Given the description of an element on the screen output the (x, y) to click on. 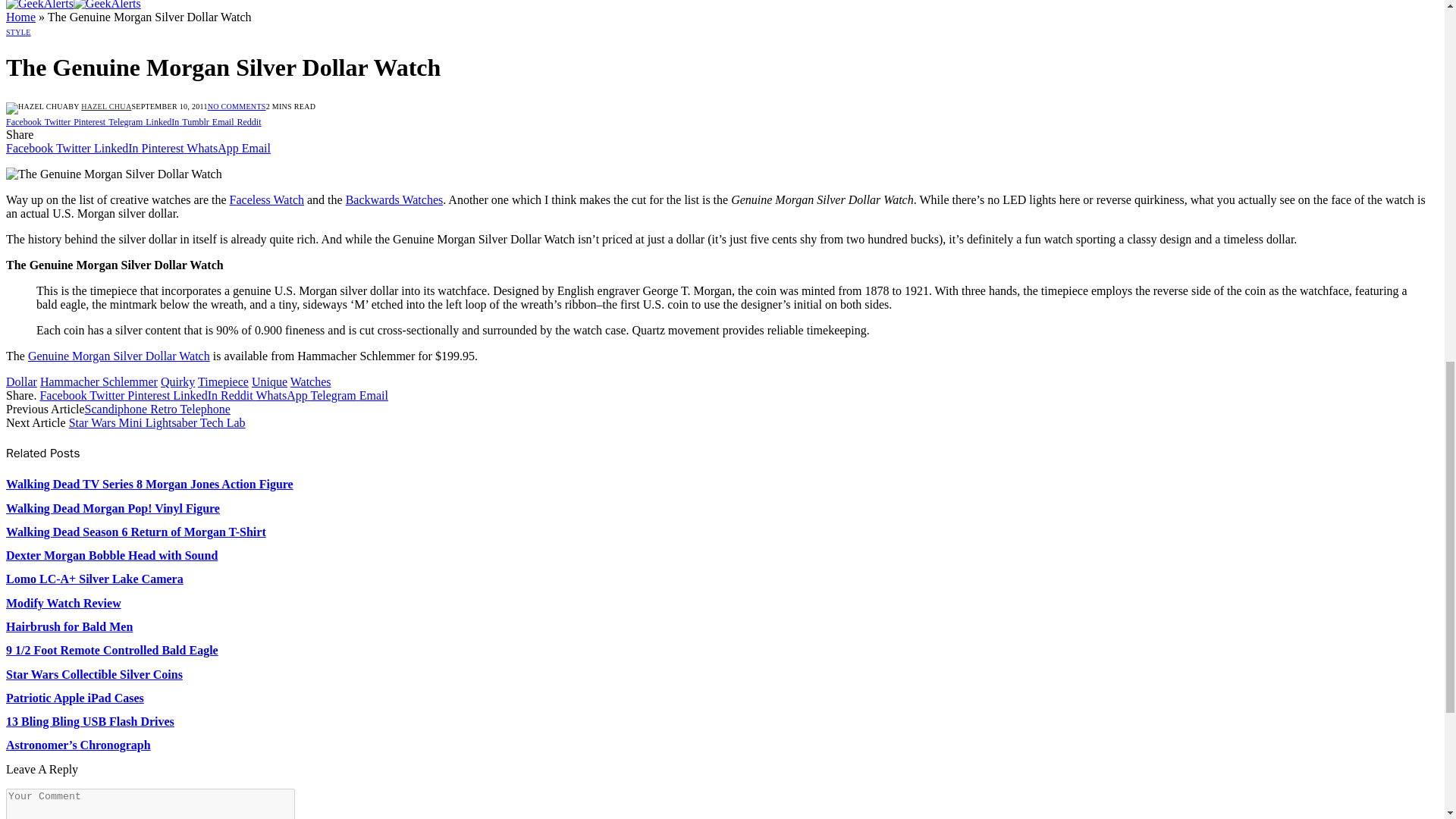
Share on Pinterest (90, 120)
Share on Telegram (126, 120)
Posts by Hazel Chua (106, 106)
Share on Facebook (25, 120)
GeekAlerts (73, 4)
